Given the description of an element on the screen output the (x, y) to click on. 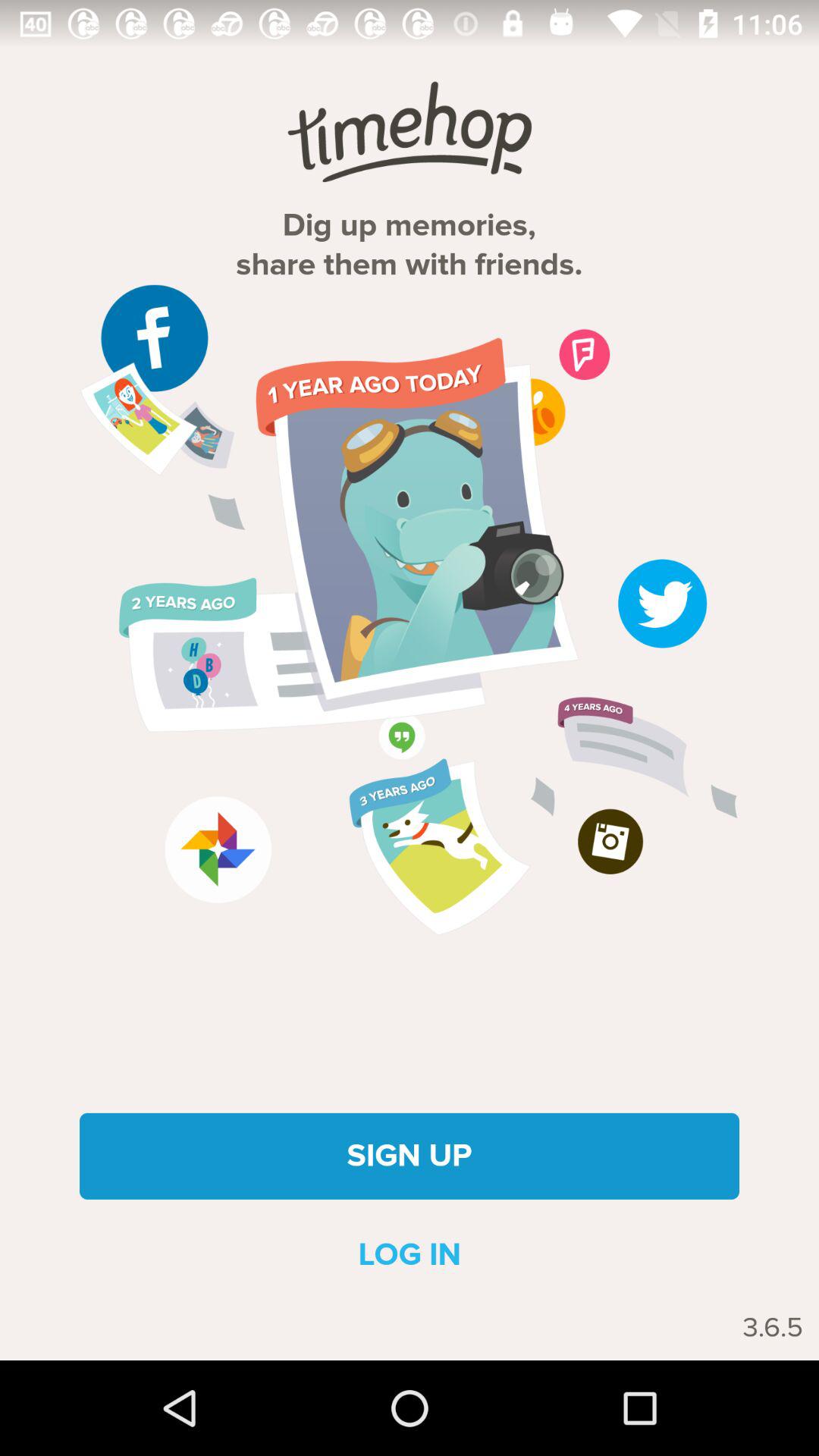
turn on the item above log in item (409, 1156)
